Given the description of an element on the screen output the (x, y) to click on. 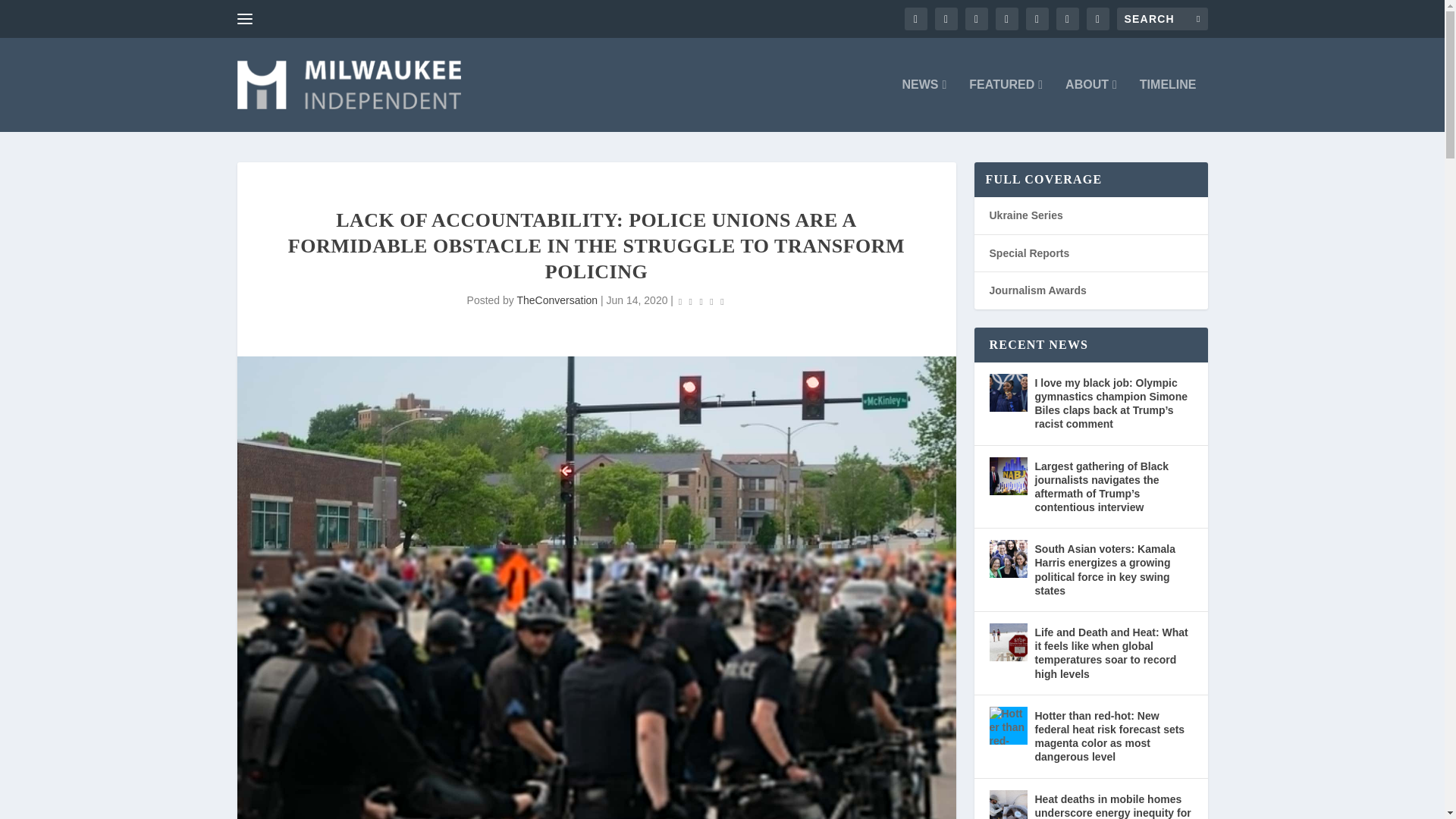
TIMELINE (1168, 104)
FEATURED (1005, 104)
Rating: 0.00 (701, 301)
Search for: (1161, 18)
TheConversation (556, 300)
Posts by TheConversation (556, 300)
ABOUT (1090, 104)
